Given the description of an element on the screen output the (x, y) to click on. 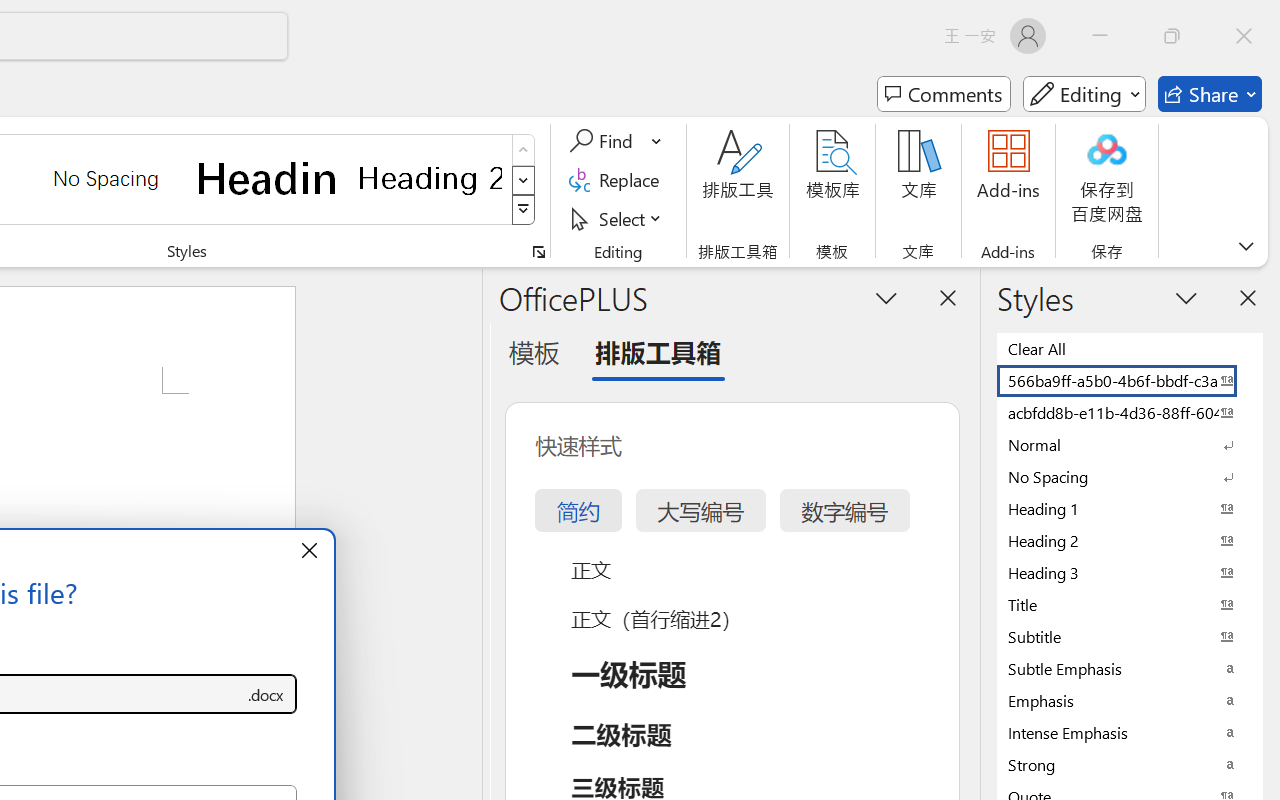
Save as type (265, 694)
Subtitle (1130, 636)
acbfdd8b-e11b-4d36-88ff-6049b138f862 (1130, 412)
More Options (657, 141)
Replace... (617, 179)
Row Down (523, 180)
Find (604, 141)
Styles... (538, 252)
Row up (523, 150)
